Given the description of an element on the screen output the (x, y) to click on. 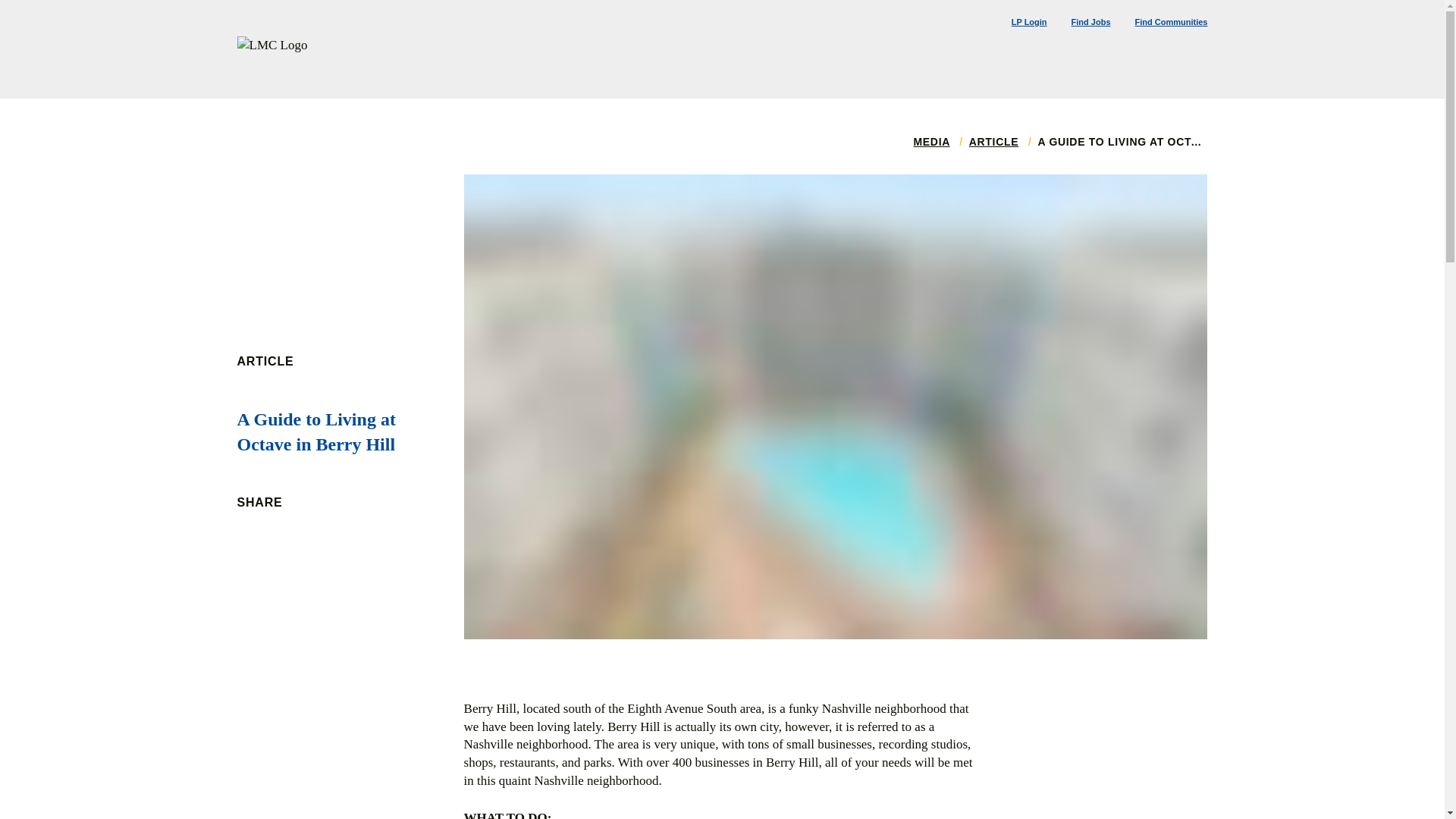
Find Communities (1171, 21)
LP Login (1028, 21)
Find Jobs (1090, 21)
ARTICLE (994, 141)
MEDIA (930, 141)
